Given the description of an element on the screen output the (x, y) to click on. 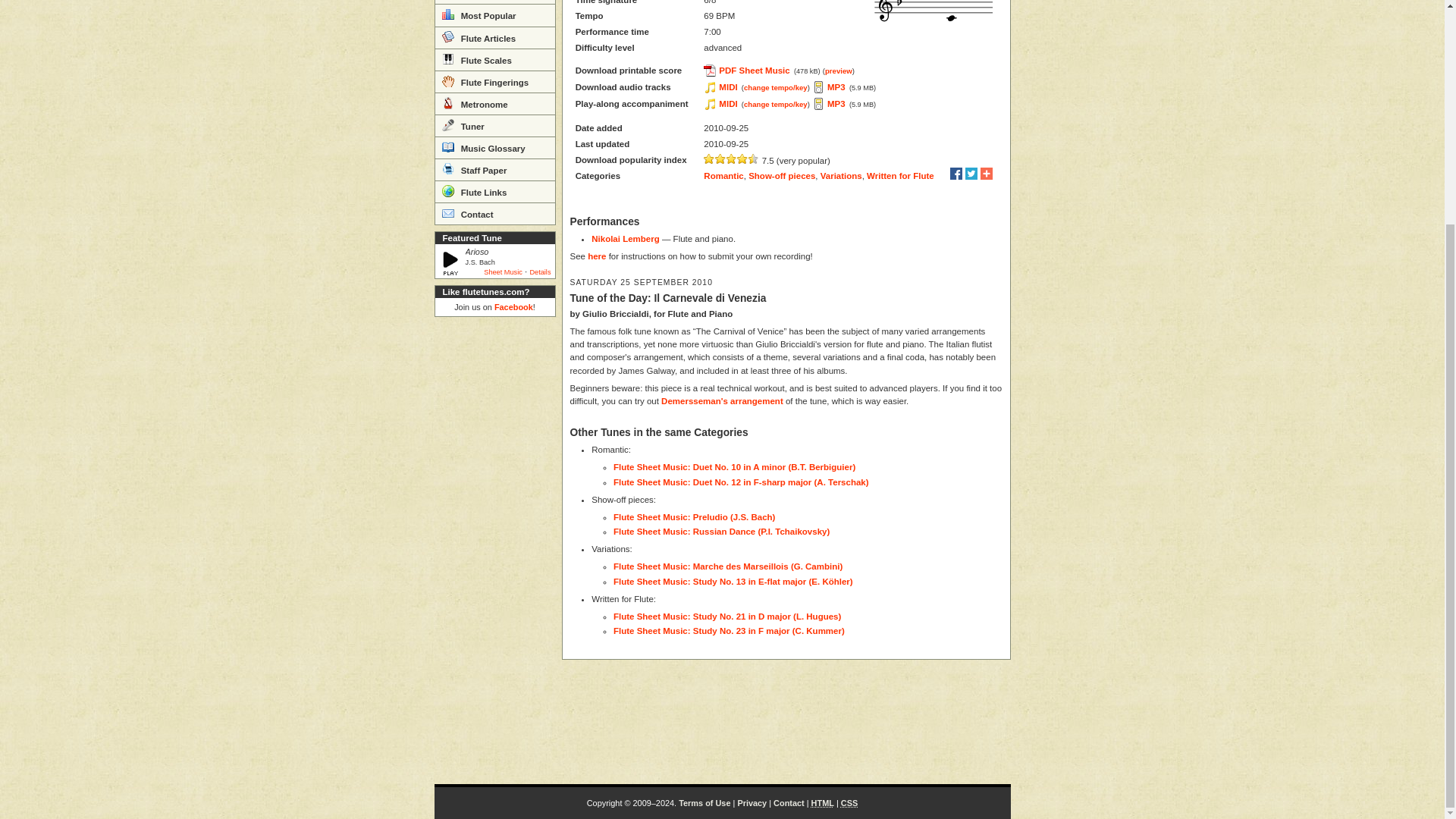
Show-off pieces (781, 175)
Share on Twitter (970, 173)
Variations (841, 175)
MIDI (720, 103)
PDF Sheet Music (746, 70)
MP3 (829, 87)
This page validates as HTML5 (822, 802)
Demersseman's arrangement (722, 400)
Flute Scales (494, 59)
Music Glossary (494, 147)
